Given the description of an element on the screen output the (x, y) to click on. 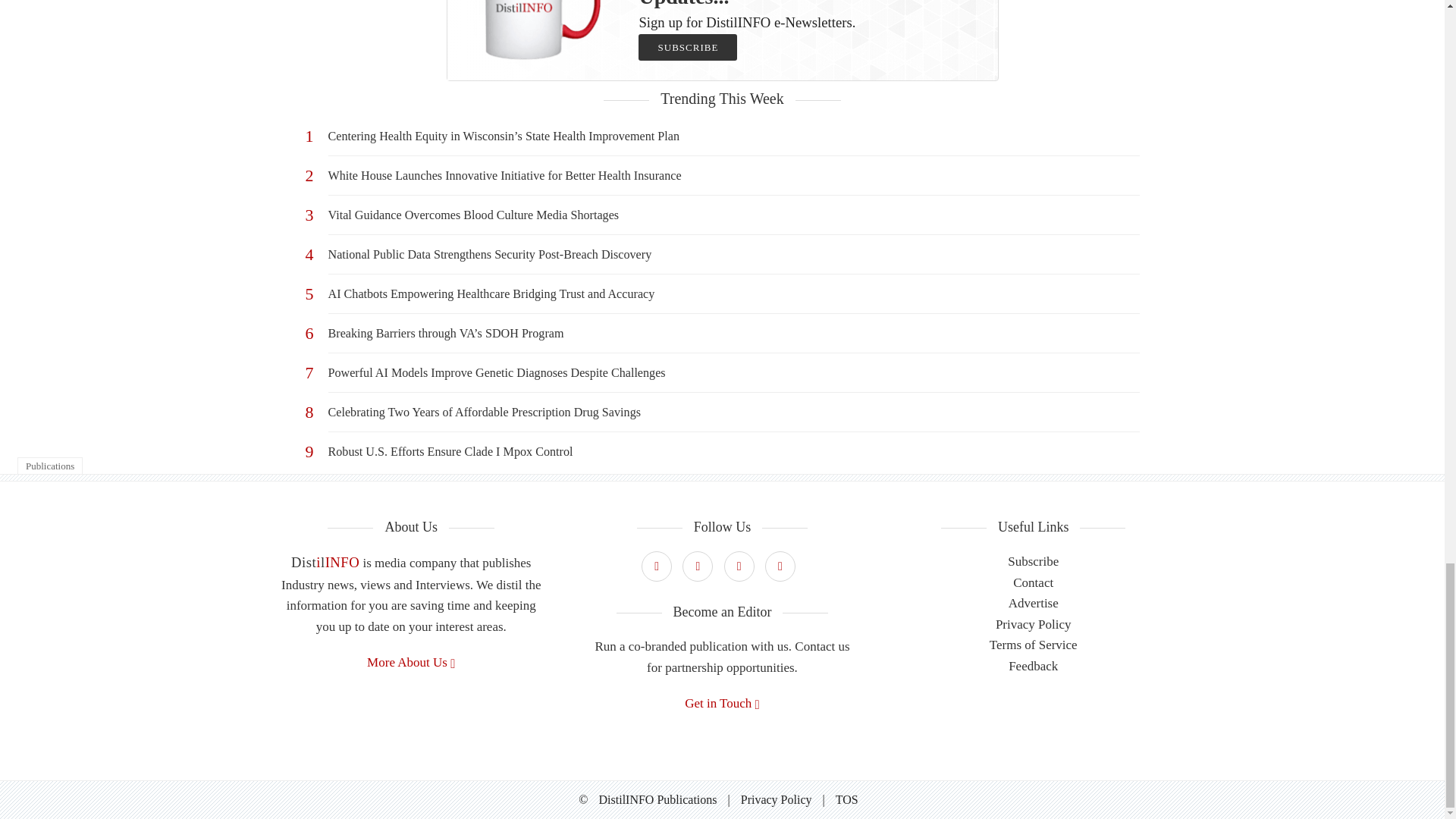
SUBSCRIBE (687, 47)
Robust U.S. Efforts Ensure Clade I Mpox Control (732, 451)
Vital Guidance Overcomes Blood Culture Media Shortages (732, 214)
